Given the description of an element on the screen output the (x, y) to click on. 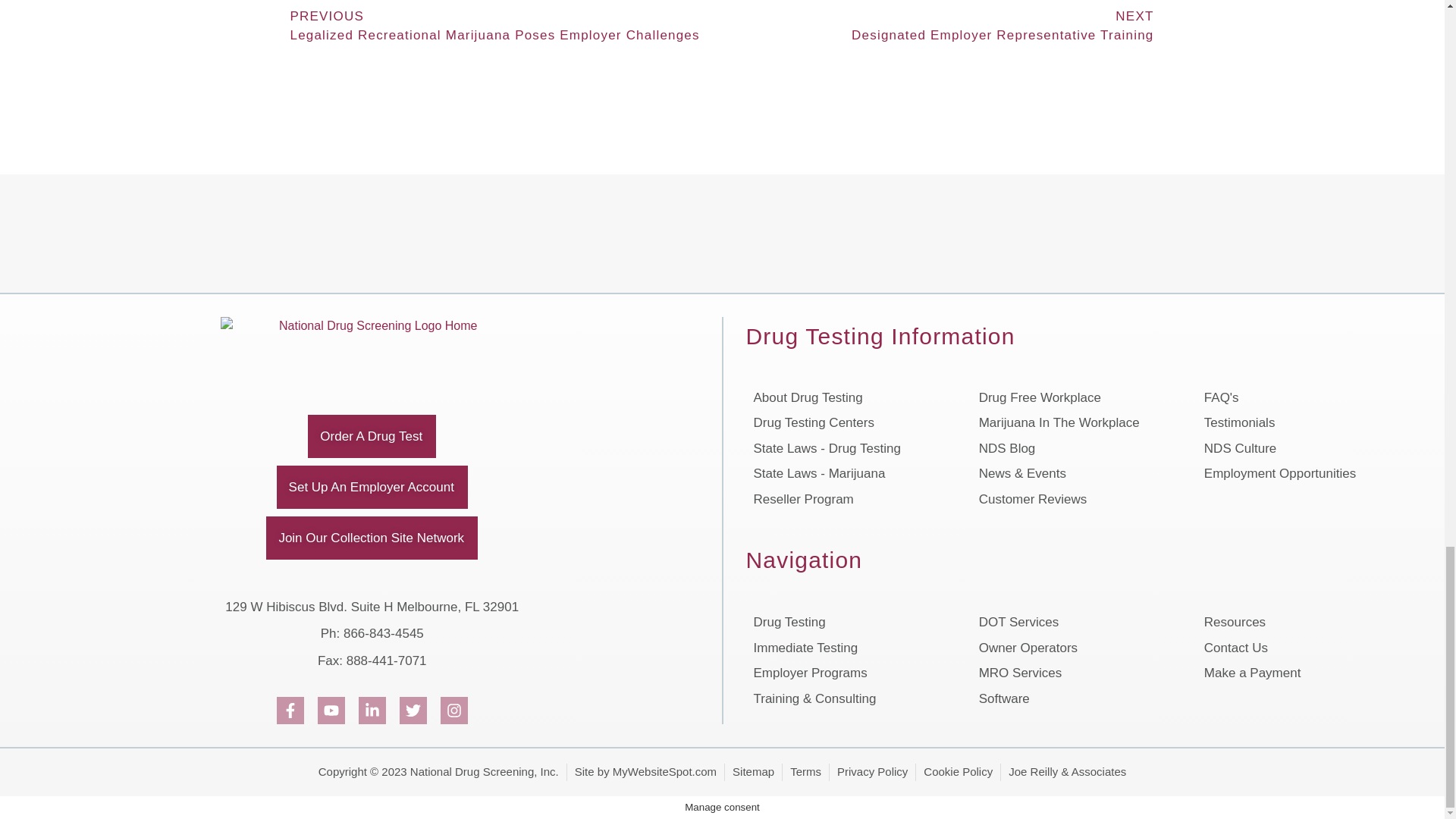
Return Home (372, 346)
Linked In Icon (371, 709)
Facebook Icon (290, 709)
Youtube Icon (331, 709)
